Given the description of an element on the screen output the (x, y) to click on. 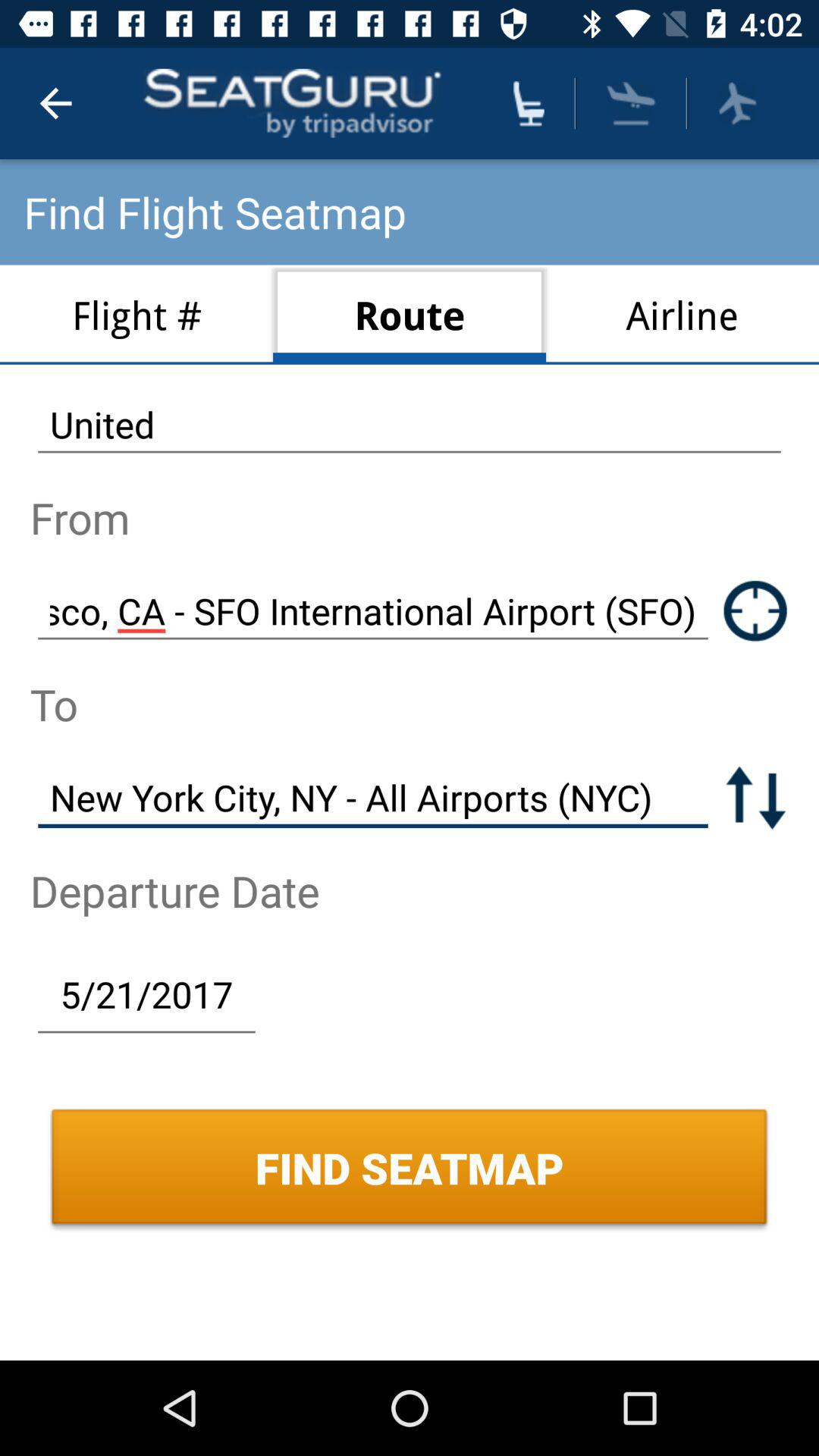
change to from (755, 797)
